Given the description of an element on the screen output the (x, y) to click on. 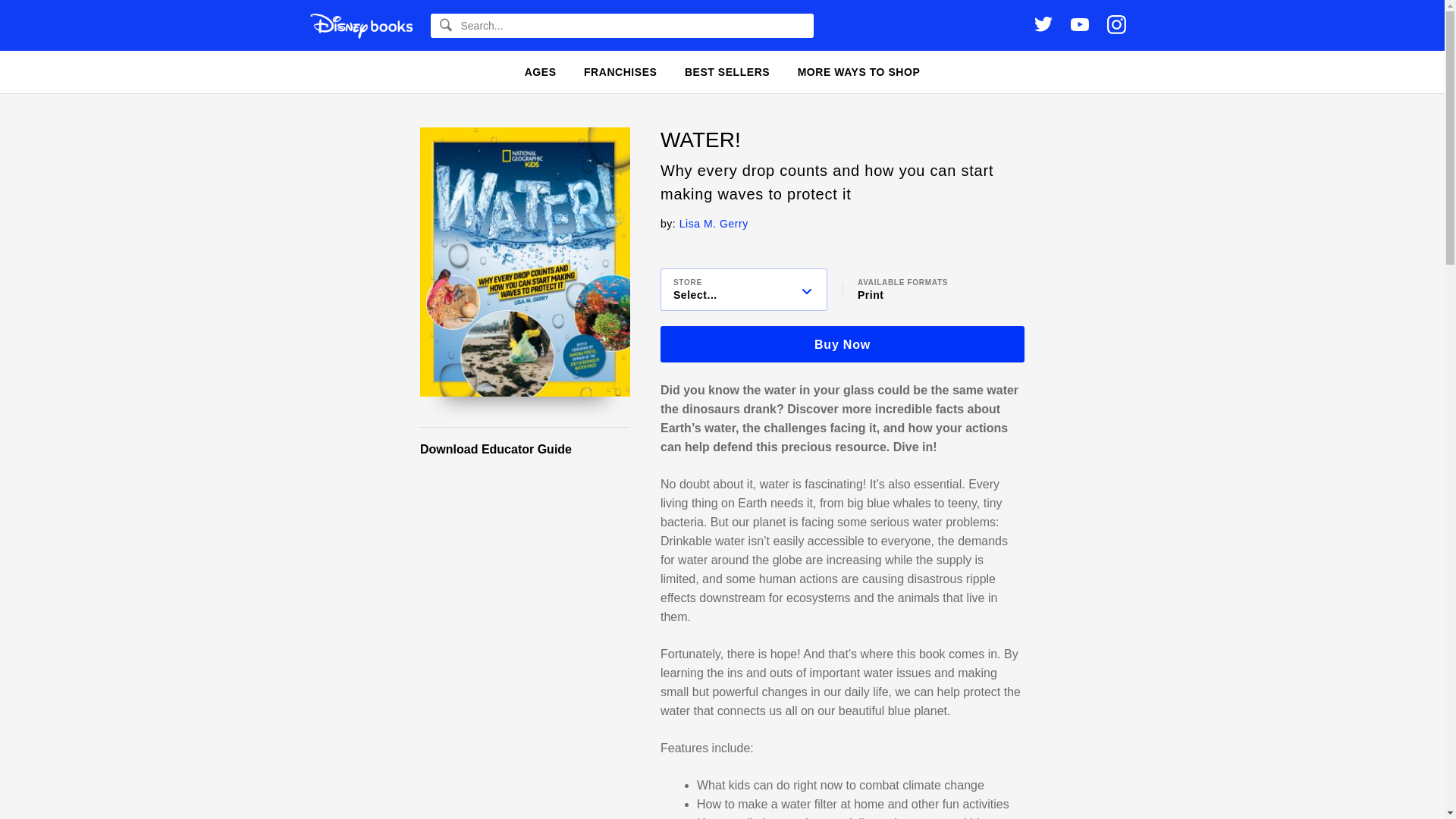
Youtube (1079, 24)
Twitter (1042, 25)
Search (40, 18)
Youtube (1079, 25)
Instagram (1115, 25)
Twitter (1042, 23)
AGES (540, 71)
FRANCHISES (620, 71)
Find a book... (621, 25)
Instagram (1115, 24)
